Given the description of an element on the screen output the (x, y) to click on. 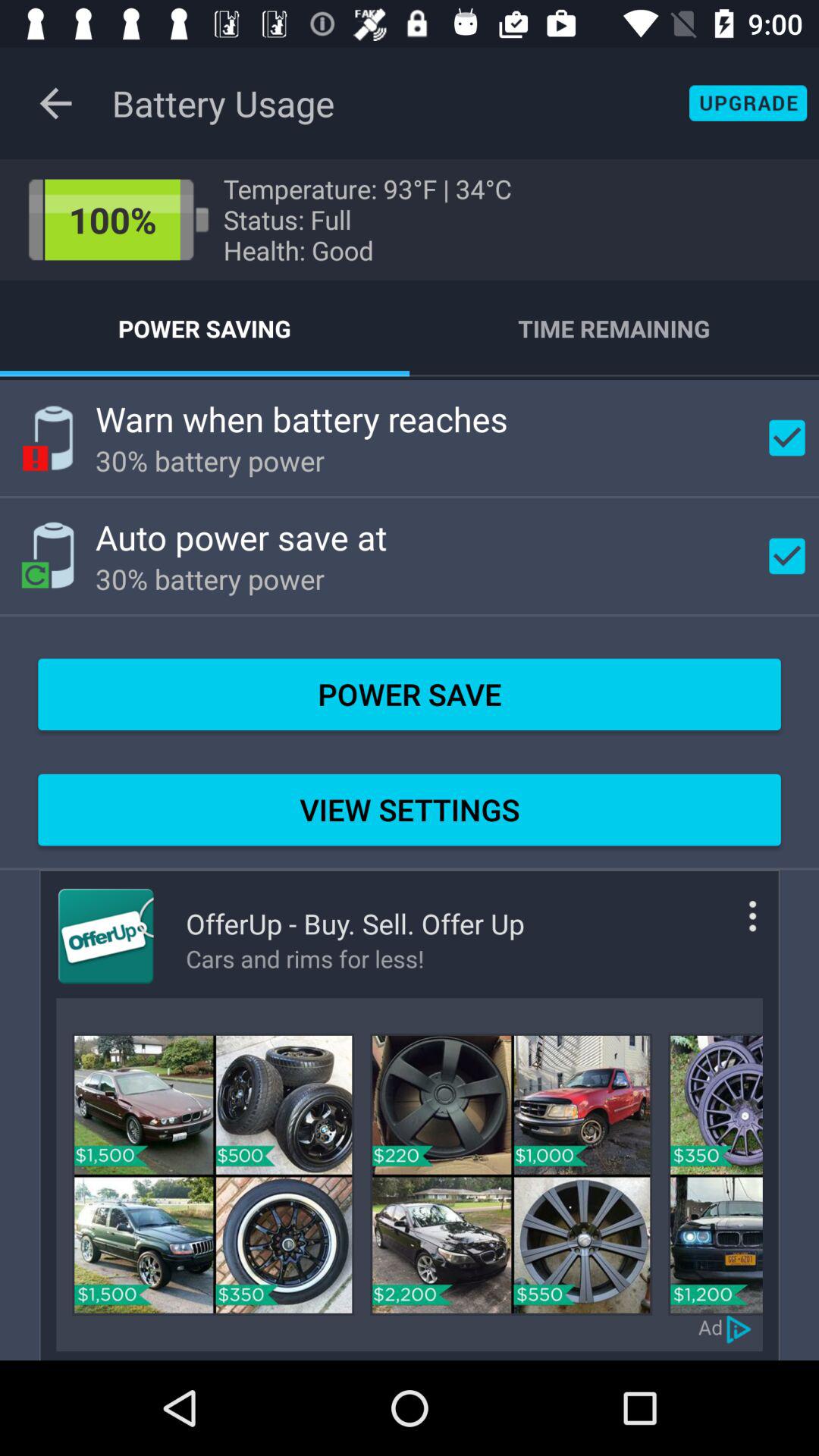
view this advertisement (213, 1174)
